Given the description of an element on the screen output the (x, y) to click on. 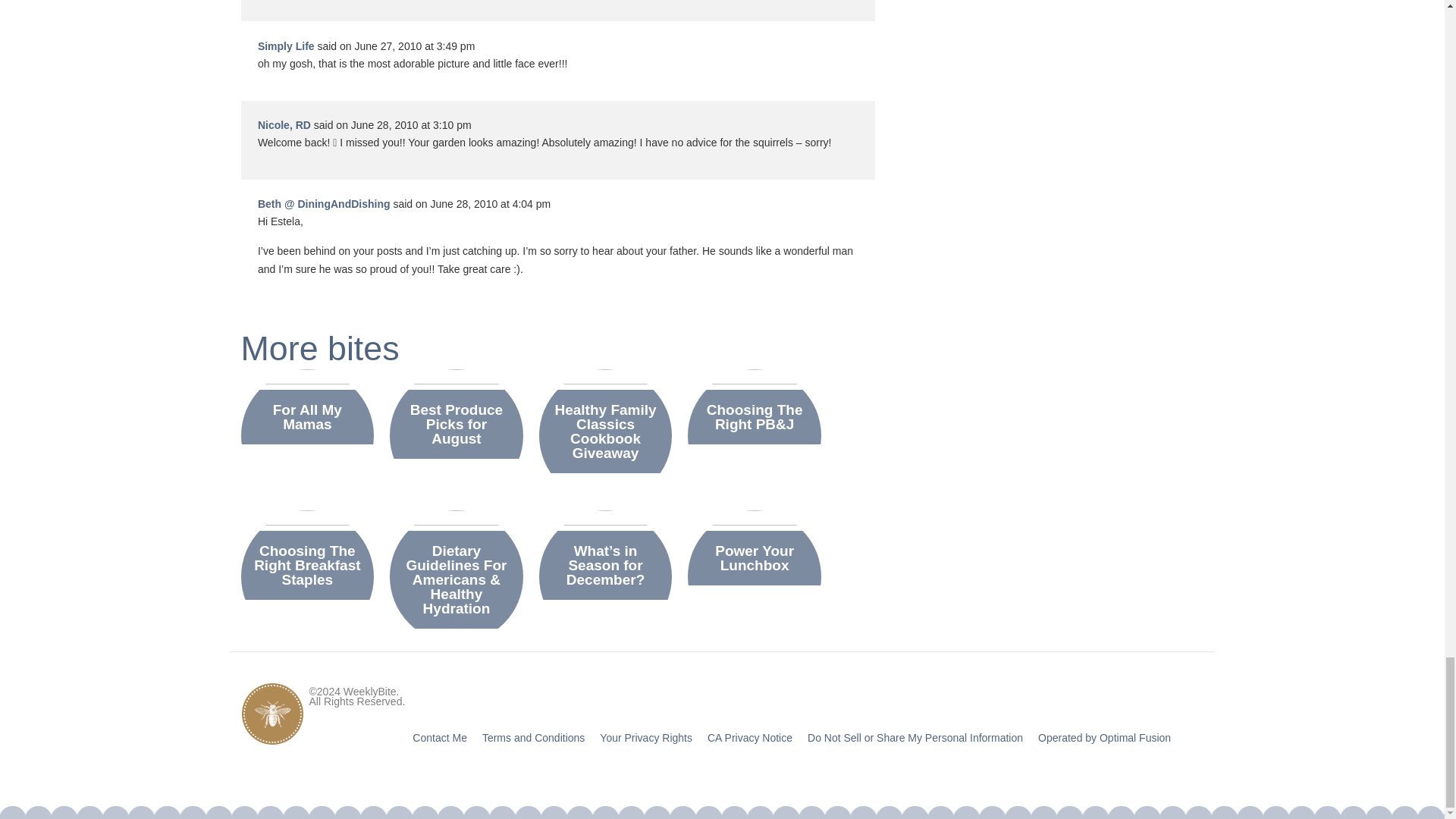
Do Not Sell or Share My Personal Information (915, 737)
Simply Life (285, 46)
